Given the description of an element on the screen output the (x, y) to click on. 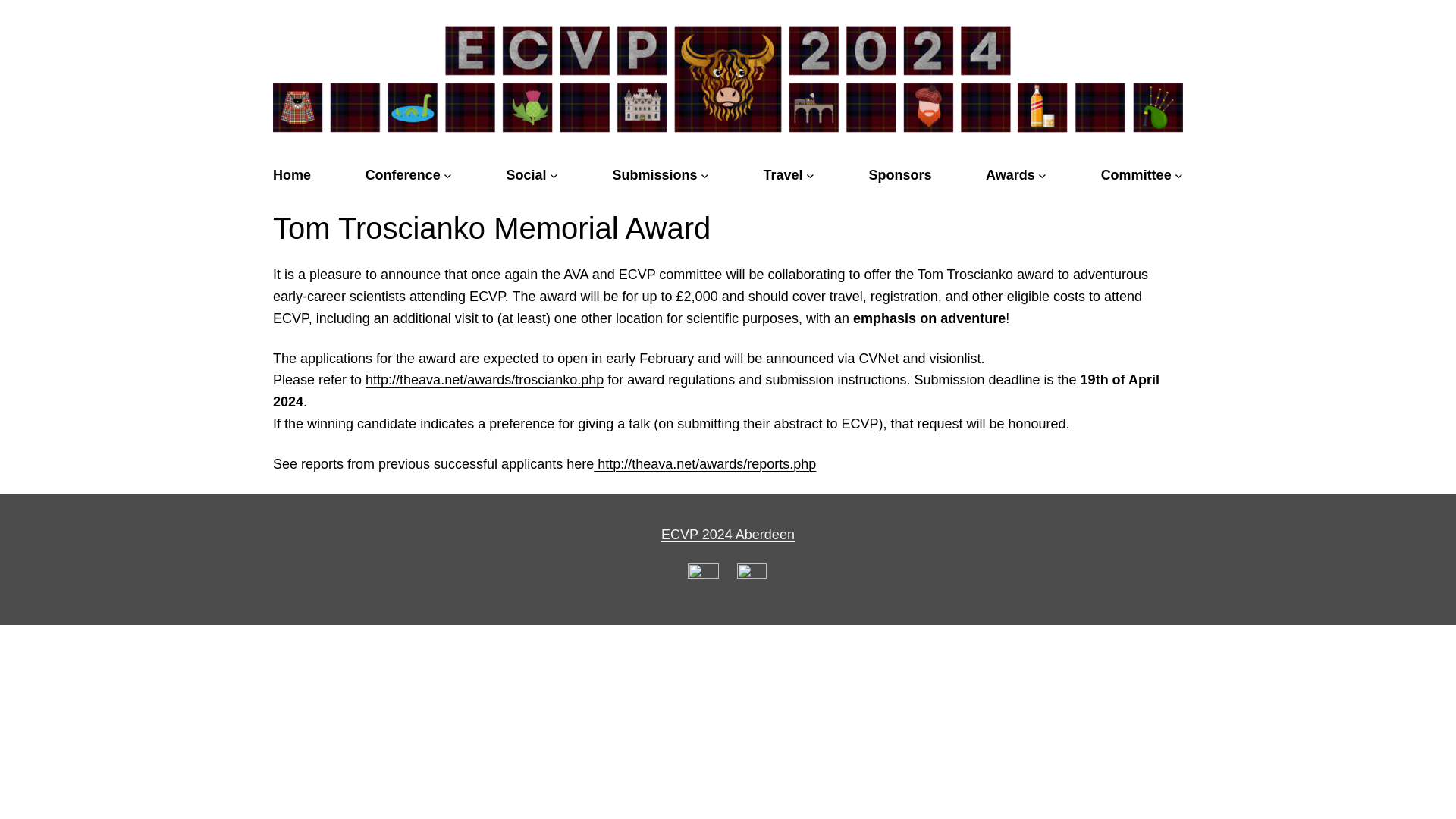
Home (292, 174)
Social (526, 174)
Submissions (654, 174)
Awards (1010, 174)
Conference (403, 174)
Travel (782, 174)
Sponsors (899, 174)
